Given the description of an element on the screen output the (x, y) to click on. 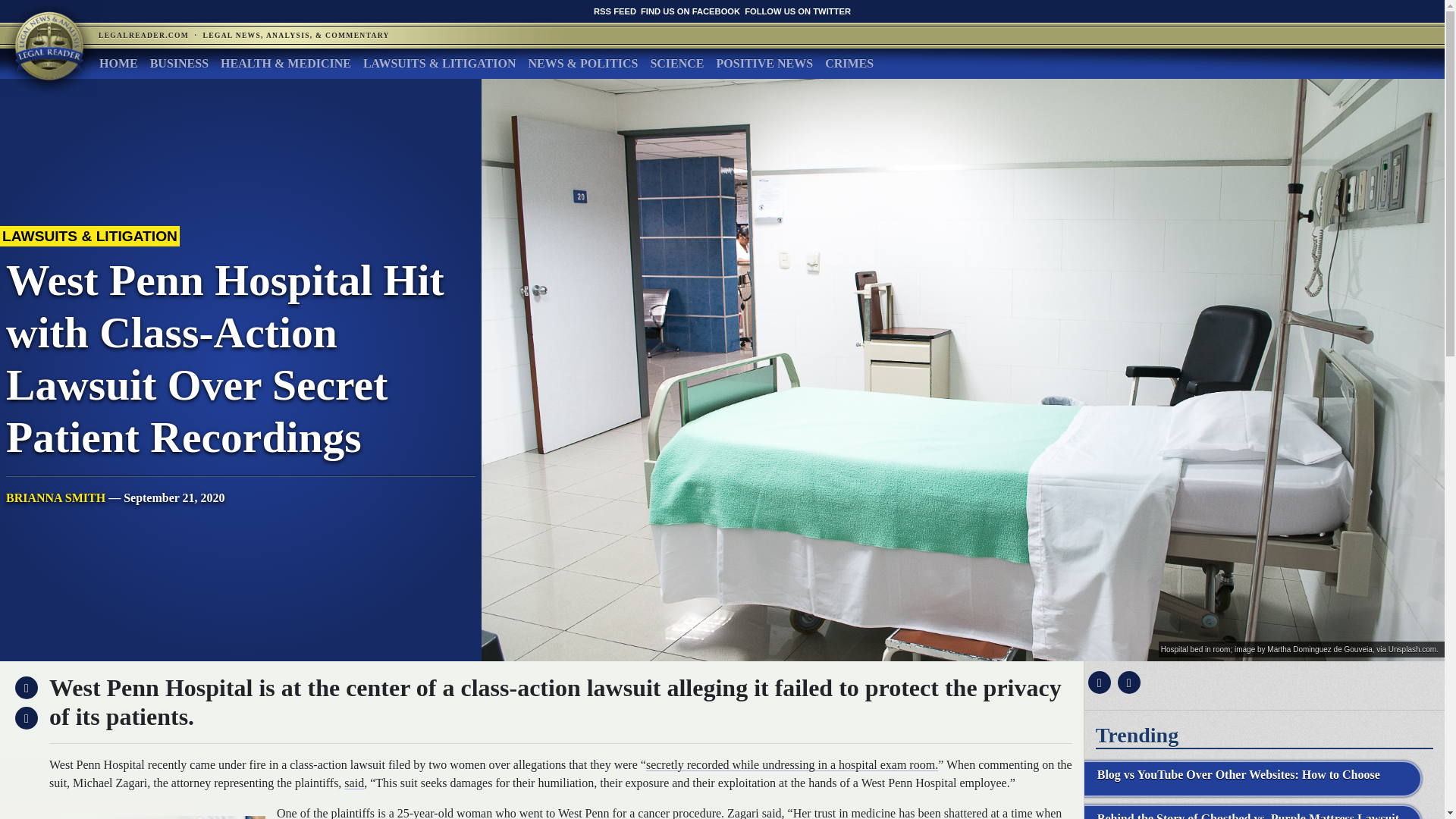
HOME (118, 63)
Follow Legal Reader on Twitter (797, 10)
BUSINESS (179, 63)
Find Legal Reader on Facebook (689, 10)
Positive News (764, 63)
Legal Reader News Feed (615, 10)
Home (118, 63)
CRIMES (848, 63)
secretly recorded while undressing in a hospital exam room. (791, 764)
RSS FEED (615, 10)
Share on facebook (1097, 682)
Posts by Brianna Smith (54, 497)
Crimes (848, 63)
said (771, 812)
FOLLOW US ON TWITTER (797, 10)
